Given the description of an element on the screen output the (x, y) to click on. 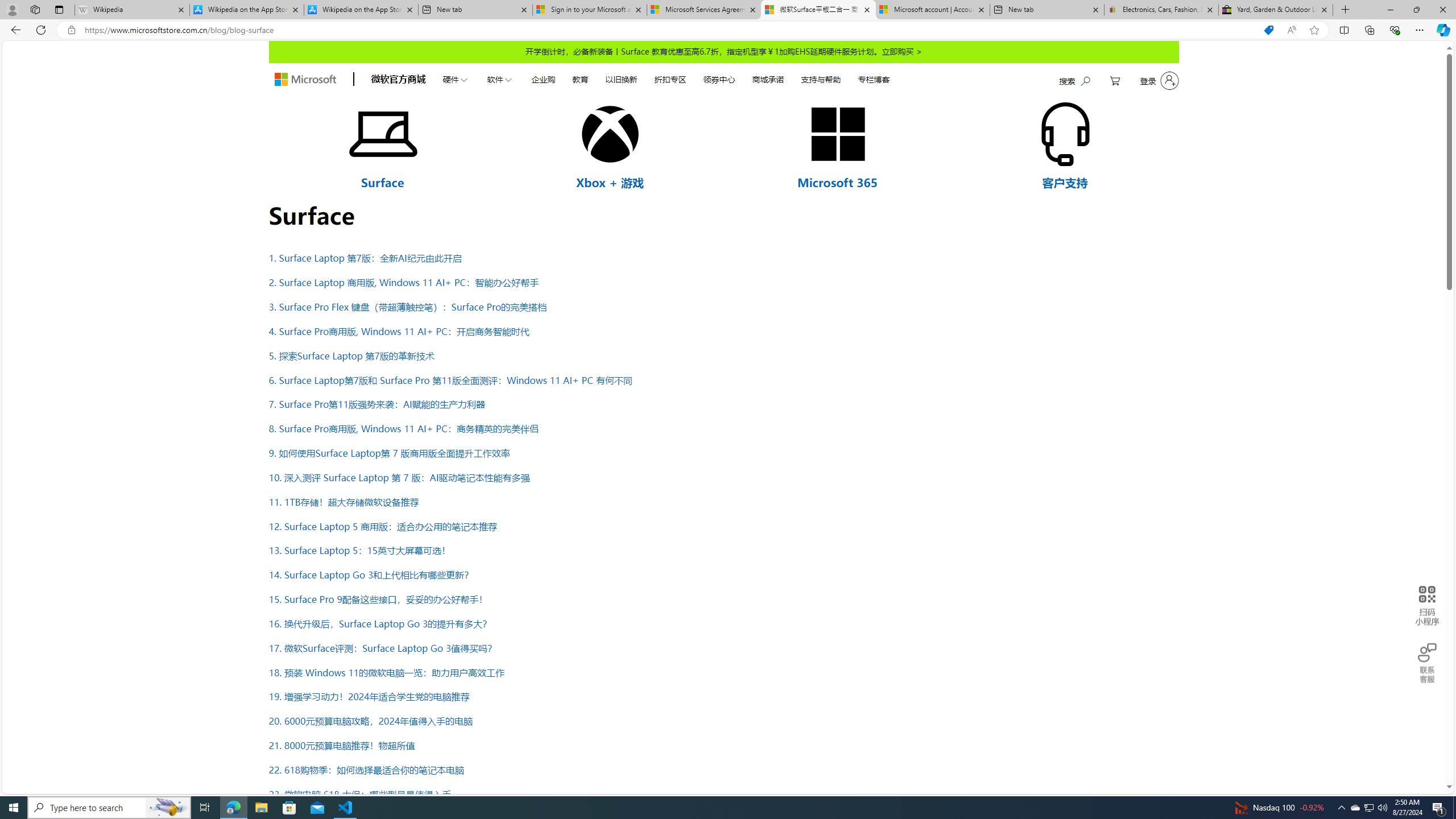
View site information (70, 29)
Sign in to your Microsoft account (589, 9)
Copilot (Ctrl+Shift+.) (1442, 29)
Close tab (1324, 9)
Workspaces (34, 9)
